Given the description of an element on the screen output the (x, y) to click on. 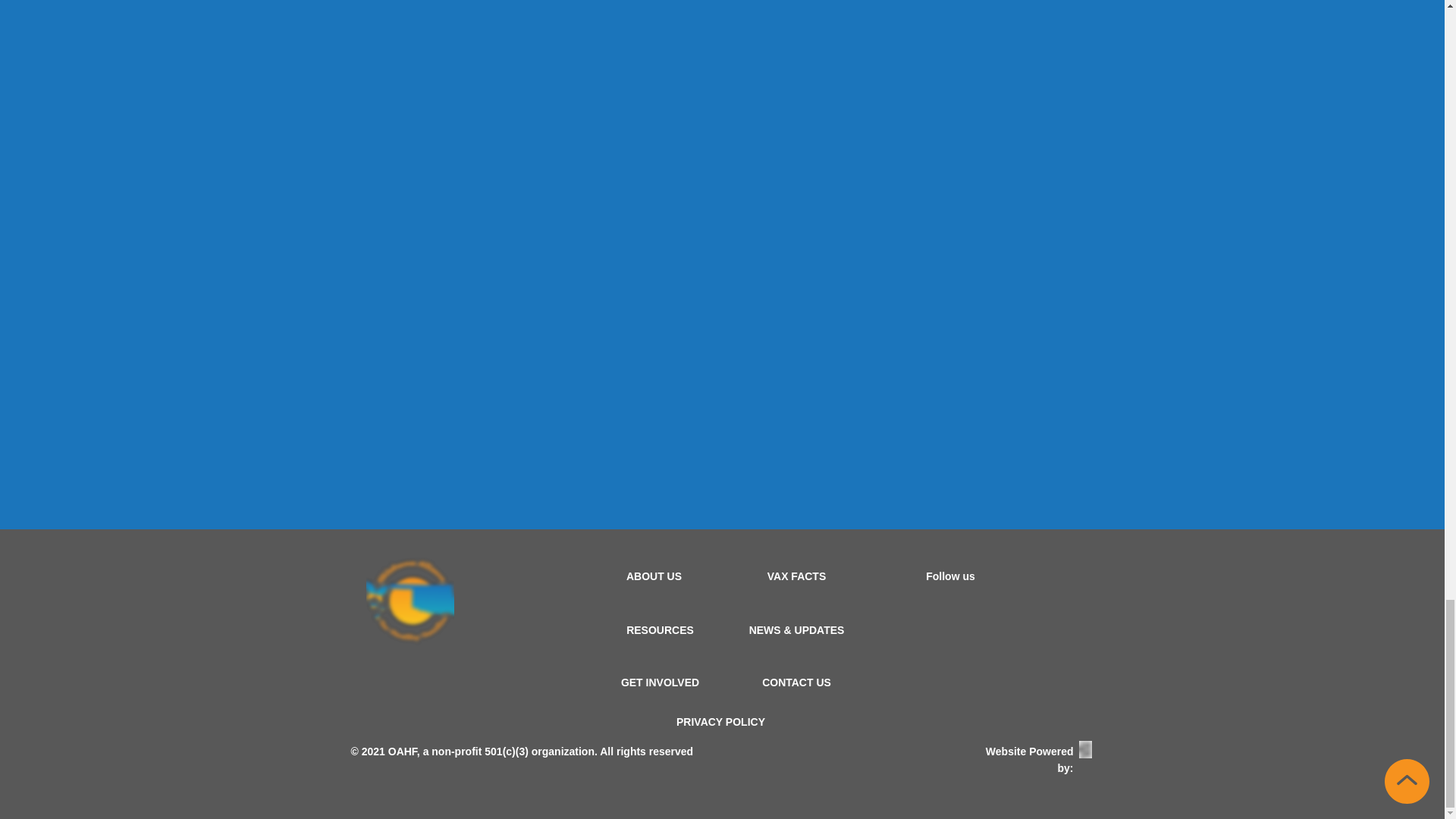
GET INVOLVED (659, 682)
VAX FACTS (797, 576)
CONTACT US (796, 682)
ABOUT US (653, 576)
RESOURCES (660, 630)
